Given the description of an element on the screen output the (x, y) to click on. 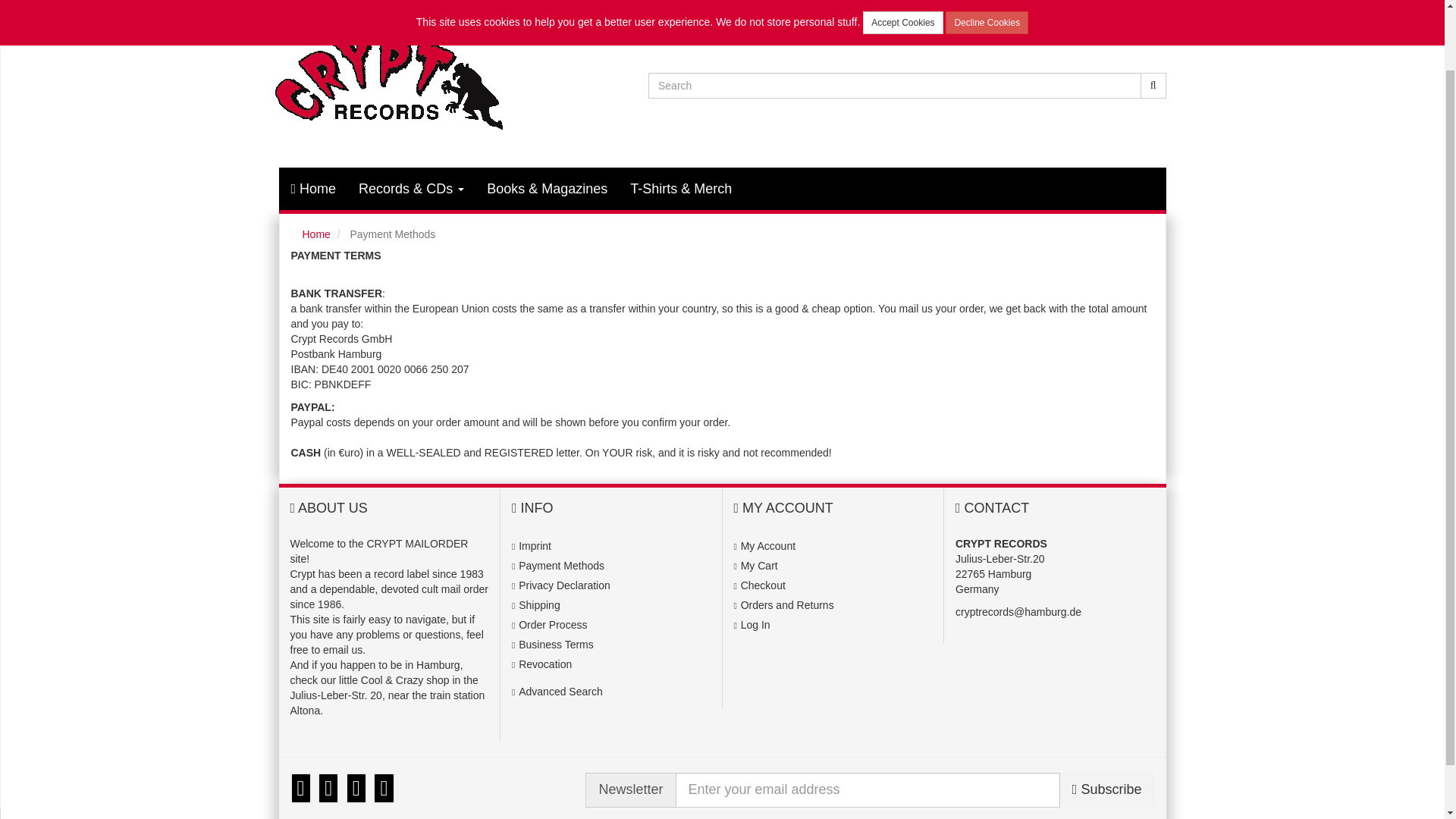
Go to Home Page (315, 234)
Your country: Germany (952, 2)
My Account (767, 545)
Sign up for our newsletter (867, 790)
CRYPT RECORDS (464, 81)
Advanced Search (560, 691)
Search (1153, 85)
Checkout (763, 585)
CRYPT RECORDS (464, 81)
My Cart (759, 565)
